Given the description of an element on the screen output the (x, y) to click on. 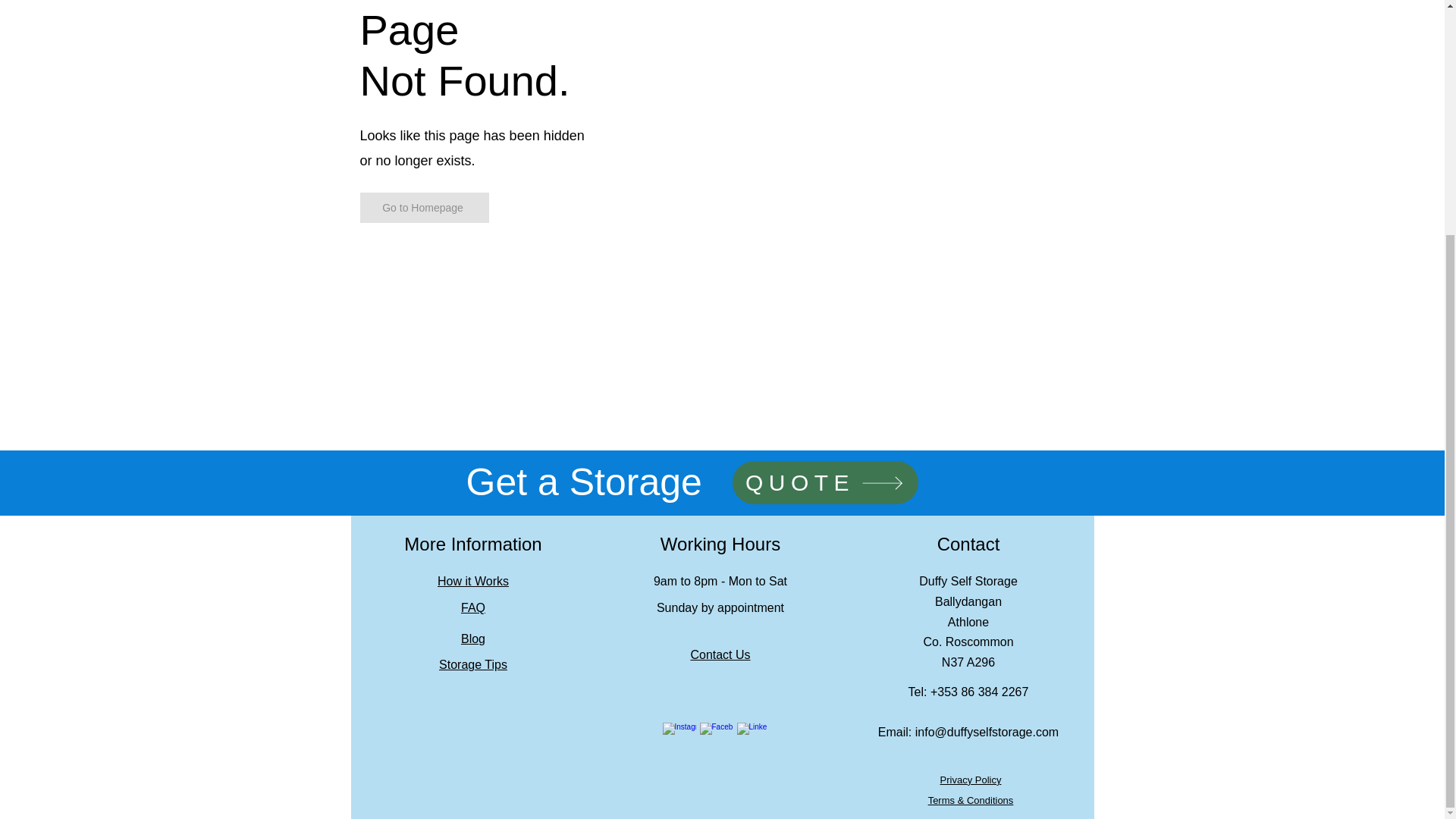
How it Works (473, 581)
Blog (472, 638)
Storage Tips (472, 664)
Get a Storage (583, 482)
QUOTE (825, 482)
Contact Us (719, 654)
FAQ (472, 607)
Privacy Policy (970, 779)
Go to Homepage (423, 207)
